Given the description of an element on the screen output the (x, y) to click on. 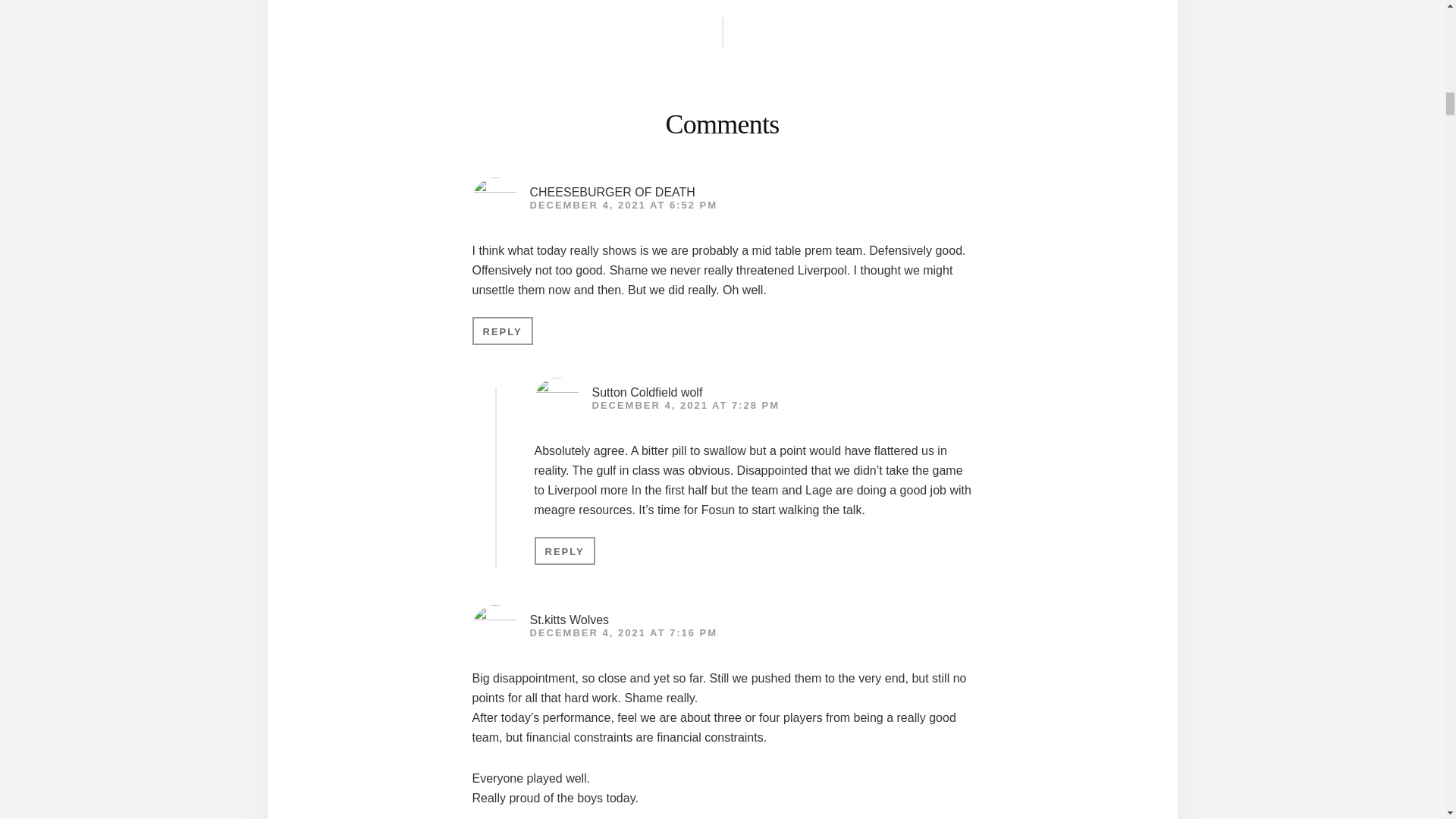
DECEMBER 4, 2021 AT 7:16 PM (623, 632)
REPLY (564, 551)
DECEMBER 4, 2021 AT 7:28 PM (684, 405)
REPLY (501, 330)
DECEMBER 4, 2021 AT 6:52 PM (623, 204)
